Given the description of an element on the screen output the (x, y) to click on. 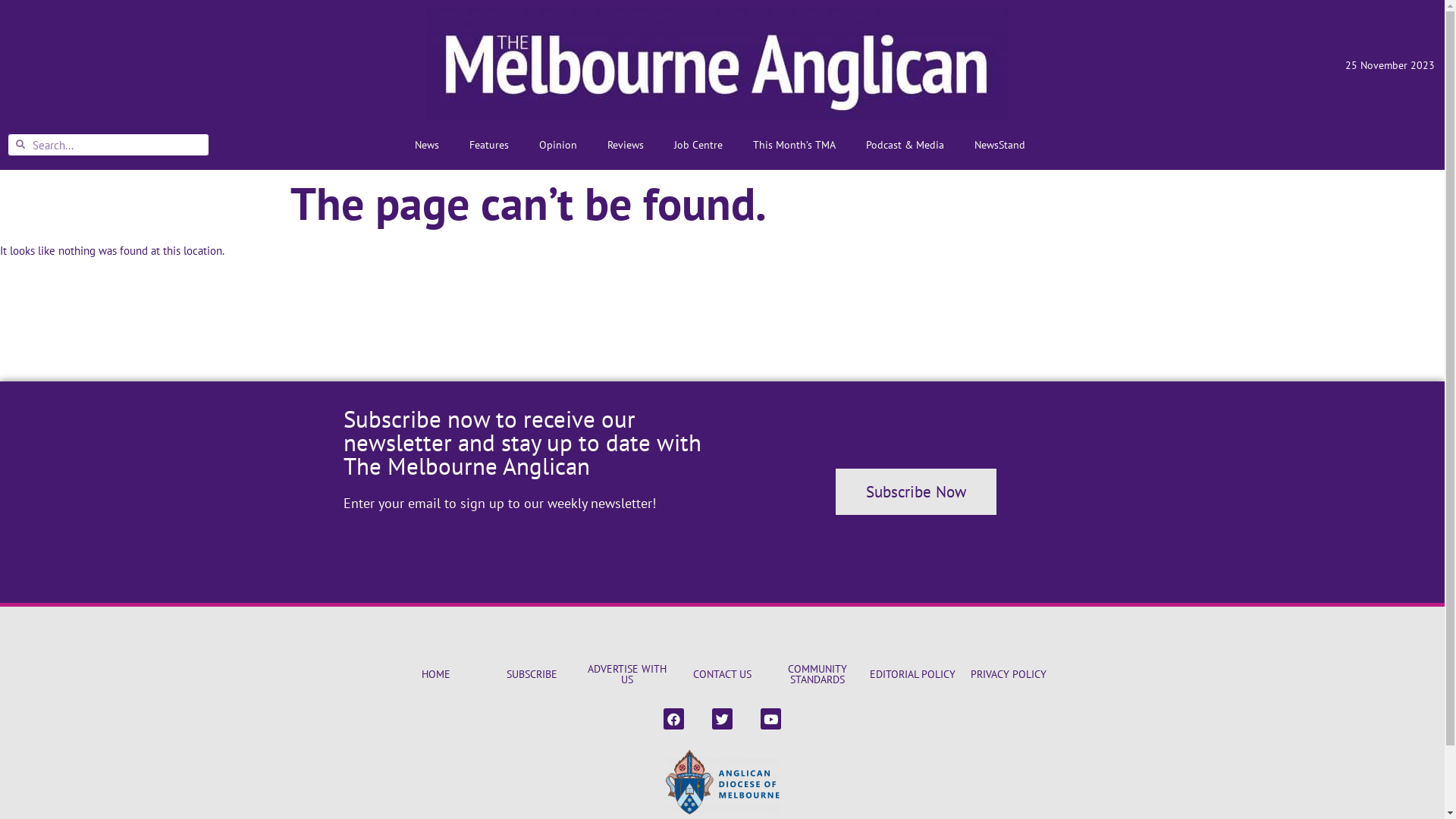
CONTACT US Element type: text (722, 673)
ADVERTISE WITH US Element type: text (626, 673)
Opinion Element type: text (558, 144)
NewsStand Element type: text (999, 144)
Subscribe Now Element type: text (915, 491)
Features Element type: text (489, 144)
PRIVACY POLICY Element type: text (1008, 673)
News Element type: text (426, 144)
Job Centre Element type: text (697, 144)
SUBSCRIBE Element type: text (531, 673)
HOME Element type: text (435, 673)
EDITORIAL POLICY Element type: text (912, 673)
Podcast & Media Element type: text (904, 144)
COMMUNITY STANDARDS Element type: text (817, 673)
Reviews Element type: text (625, 144)
